Given the description of an element on the screen output the (x, y) to click on. 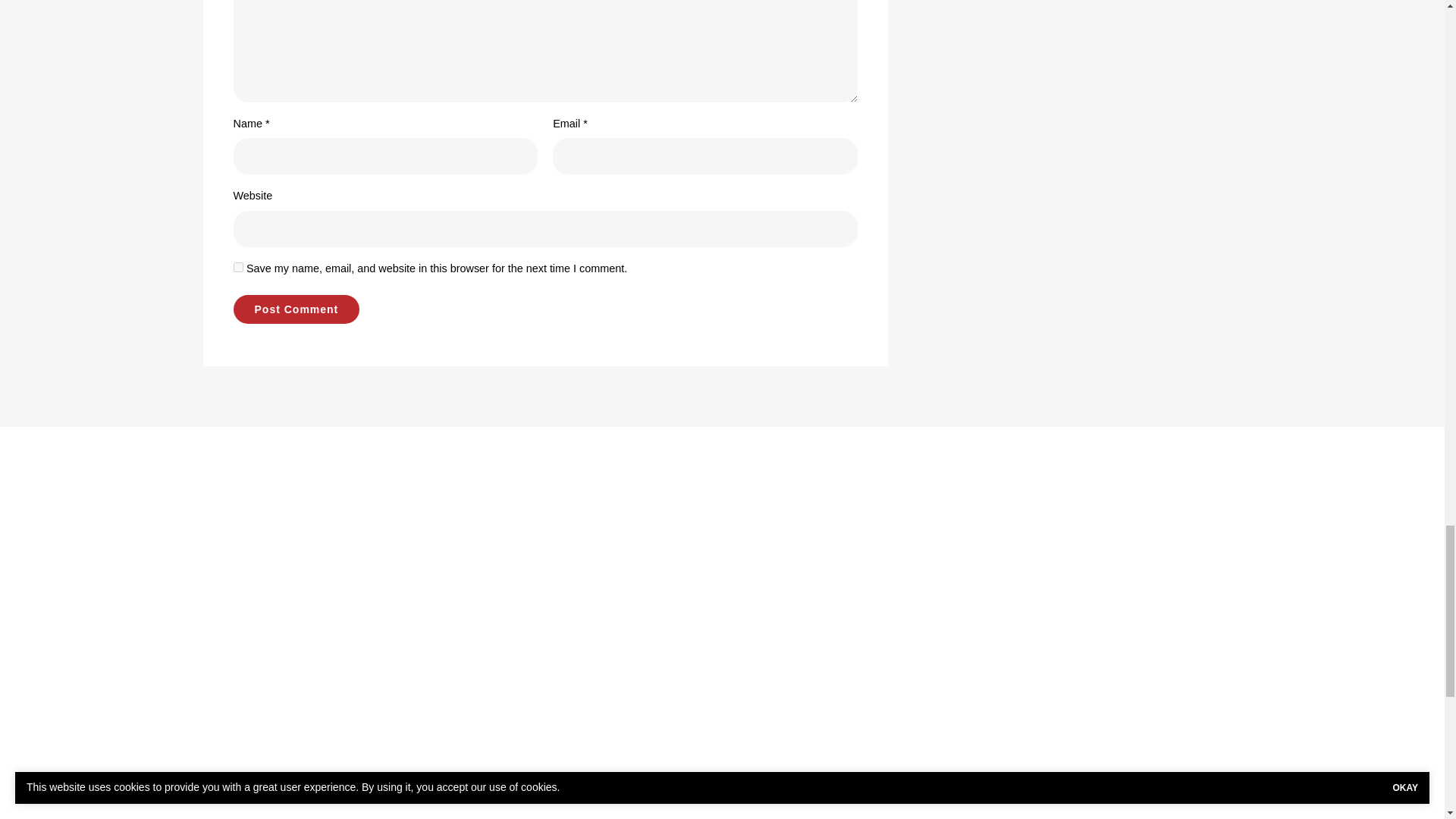
Post Comment (295, 308)
yes (237, 266)
